Given the description of an element on the screen output the (x, y) to click on. 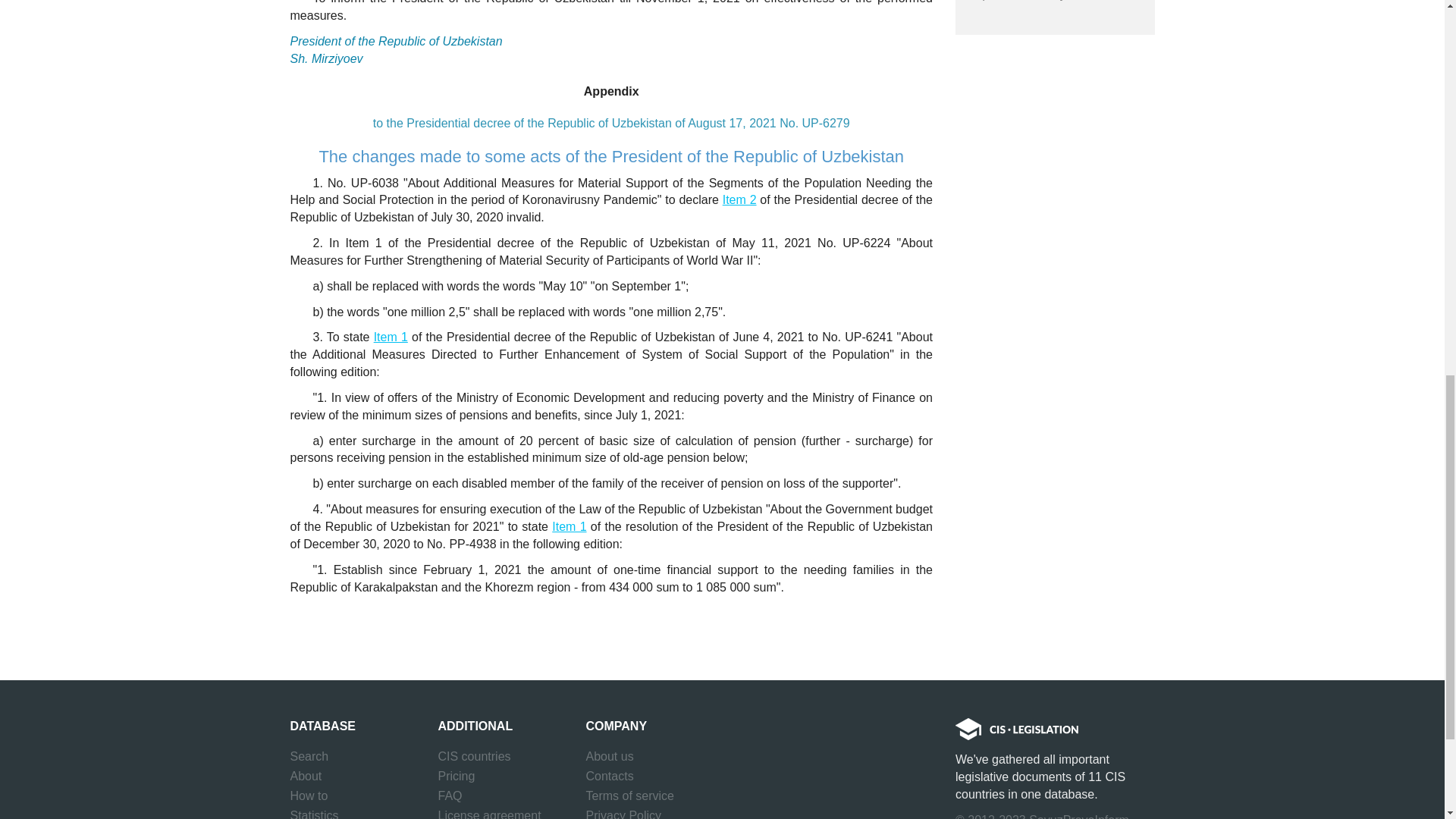
Item 1 (568, 526)
Statistics (313, 812)
CIS countries (474, 756)
Search (309, 756)
License agreement (489, 812)
FAQ (450, 795)
Item 1 (390, 336)
About (305, 776)
How to (308, 795)
About us (609, 756)
Pricing (457, 776)
Item 2 (739, 199)
